Given the description of an element on the screen output the (x, y) to click on. 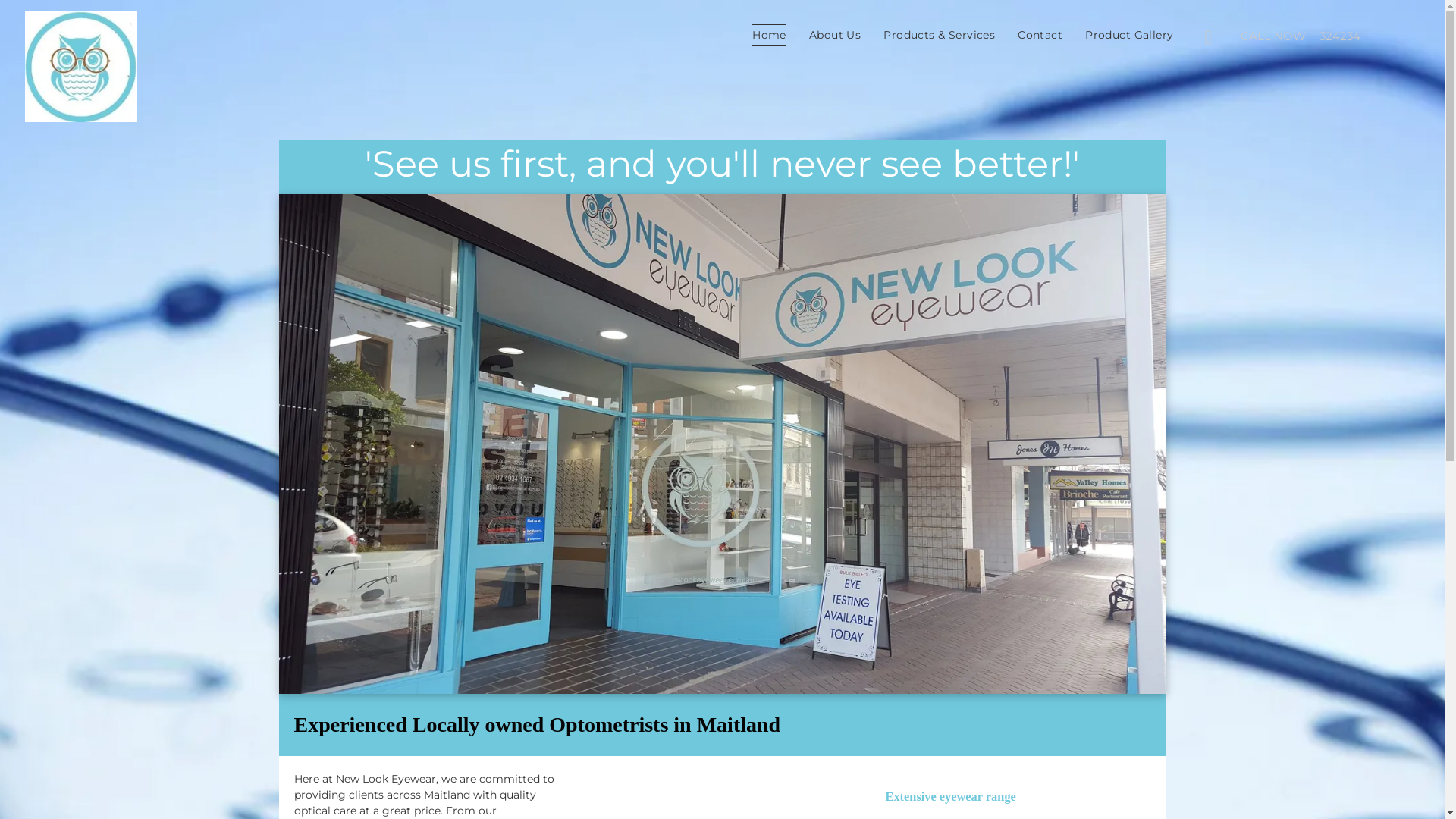
Contact Element type: text (1039, 35)
CALL NOW 324234 Element type: text (1313, 35)
About Us Element type: text (834, 35)
Home Element type: text (768, 35)
Products & Services Element type: text (939, 35)
Product Gallery Element type: text (1128, 35)
new look eyewear rainbow eye closeup Element type: hover (722, 443)
